Given the description of an element on the screen output the (x, y) to click on. 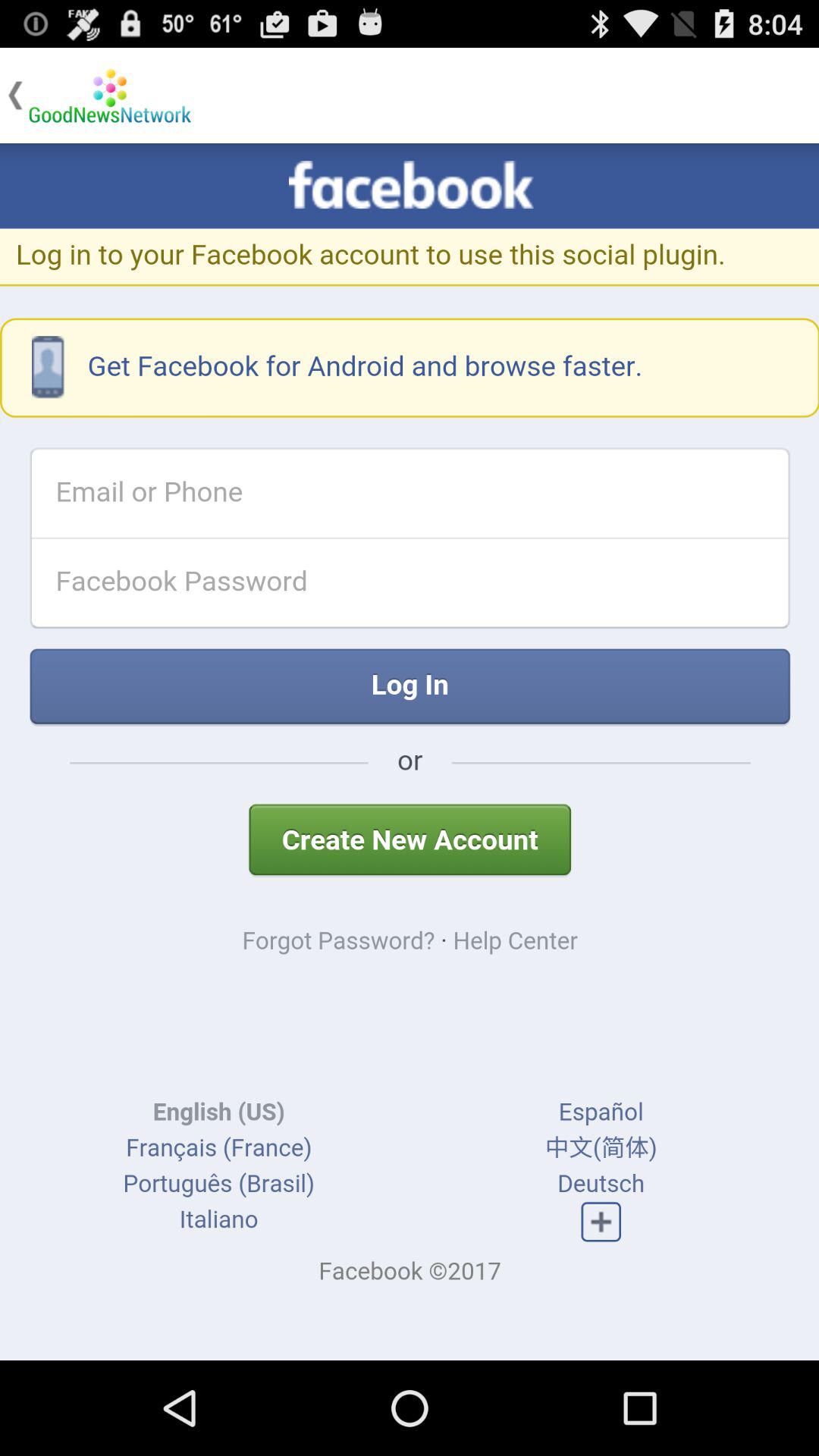
facebook login page (409, 751)
